Given the description of an element on the screen output the (x, y) to click on. 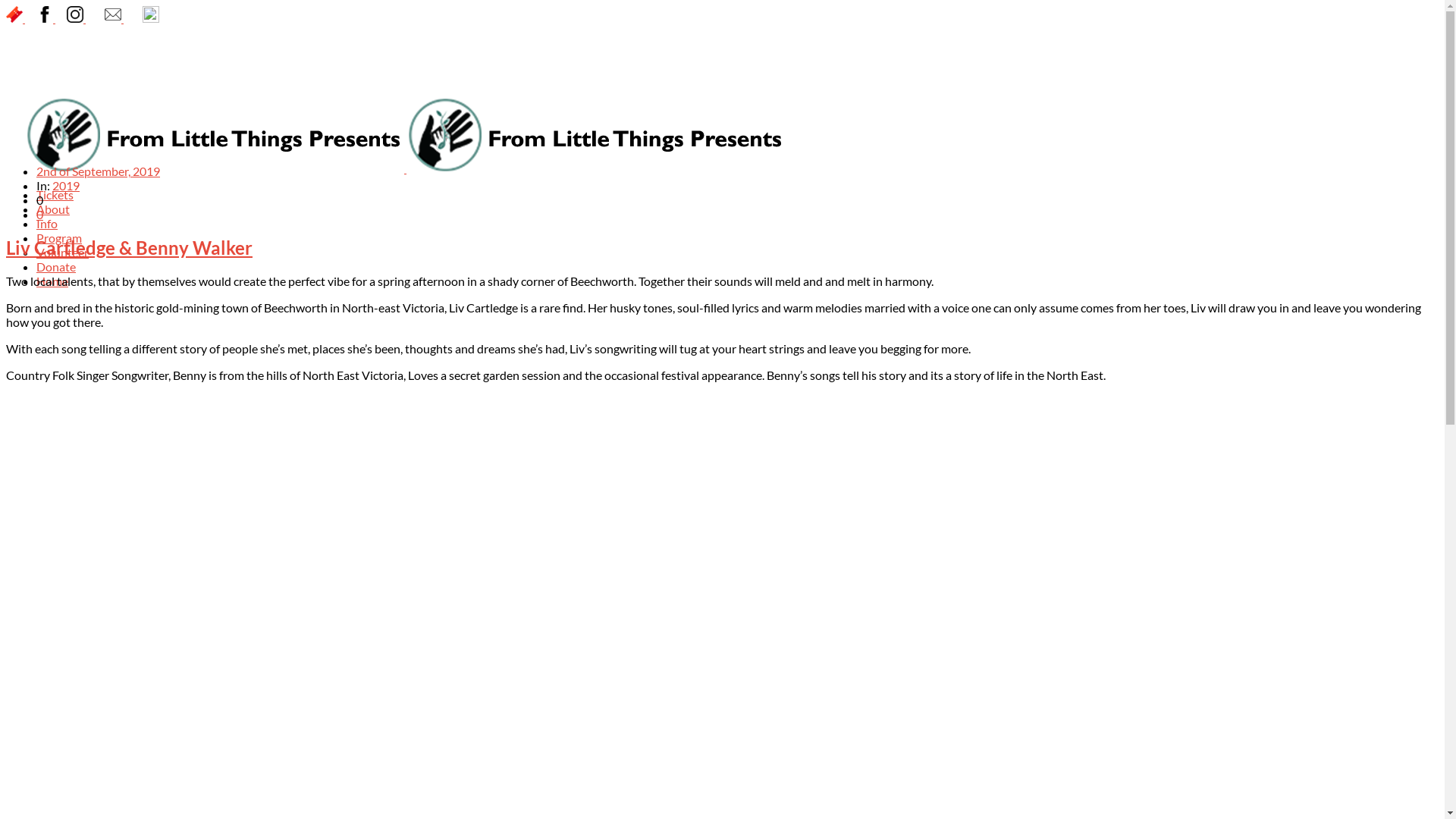
Volunteer Element type: text (62, 251)
Buy Tickets Element type: hover (15, 17)
Program Element type: text (58, 237)
Donate Element type: text (55, 266)
Liv Cartledge & Benny Walker Element type: text (722, 247)
About Element type: text (52, 208)
Info Element type: text (46, 223)
Home Element type: text (52, 280)
0 Element type: text (39, 214)
2019 Element type: text (65, 185)
Tickets Element type: text (54, 194)
2nd of September, 2019 Element type: text (98, 170)
